Given the description of an element on the screen output the (x, y) to click on. 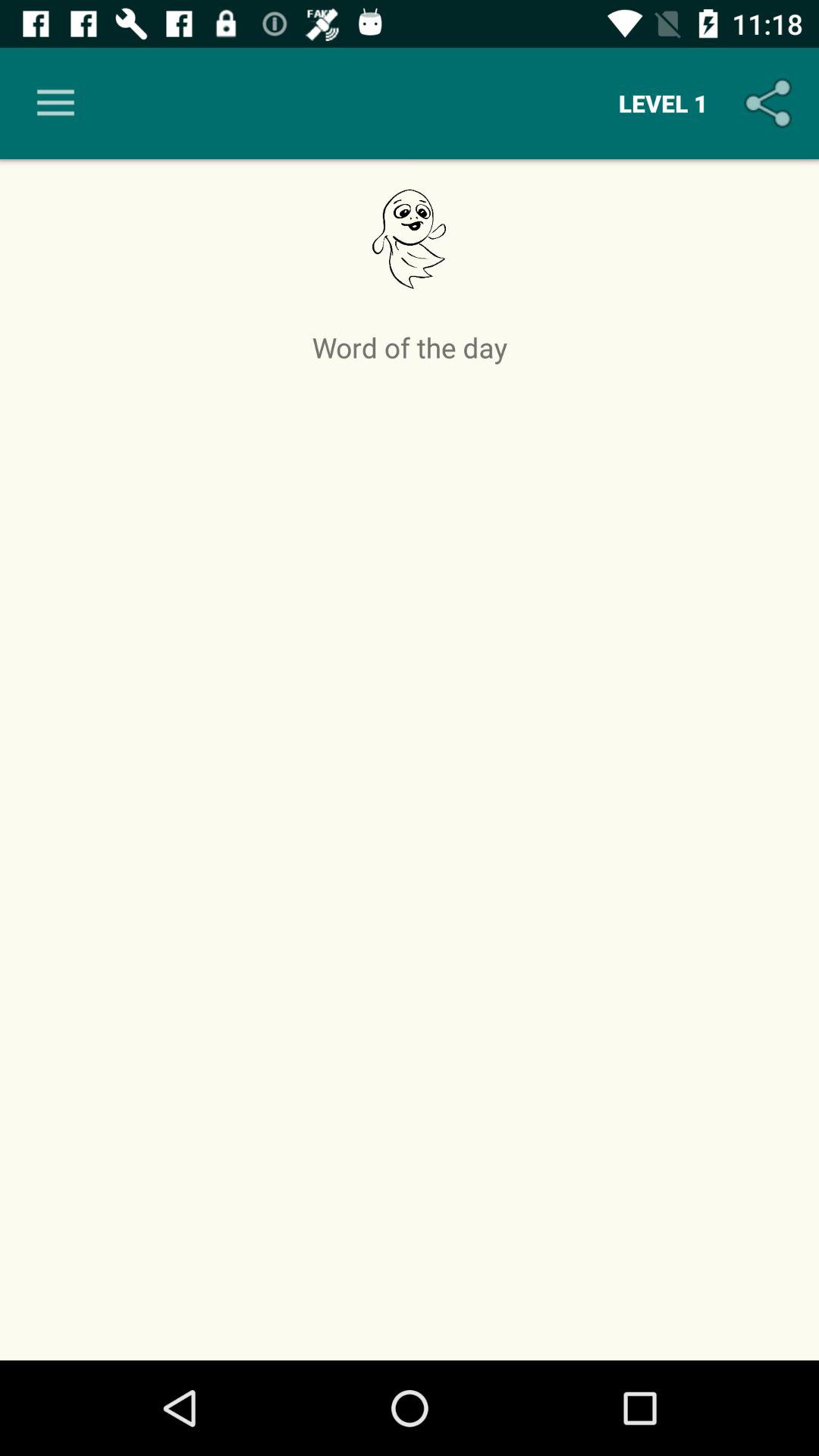
turn on item below word of the item (409, 858)
